Given the description of an element on the screen output the (x, y) to click on. 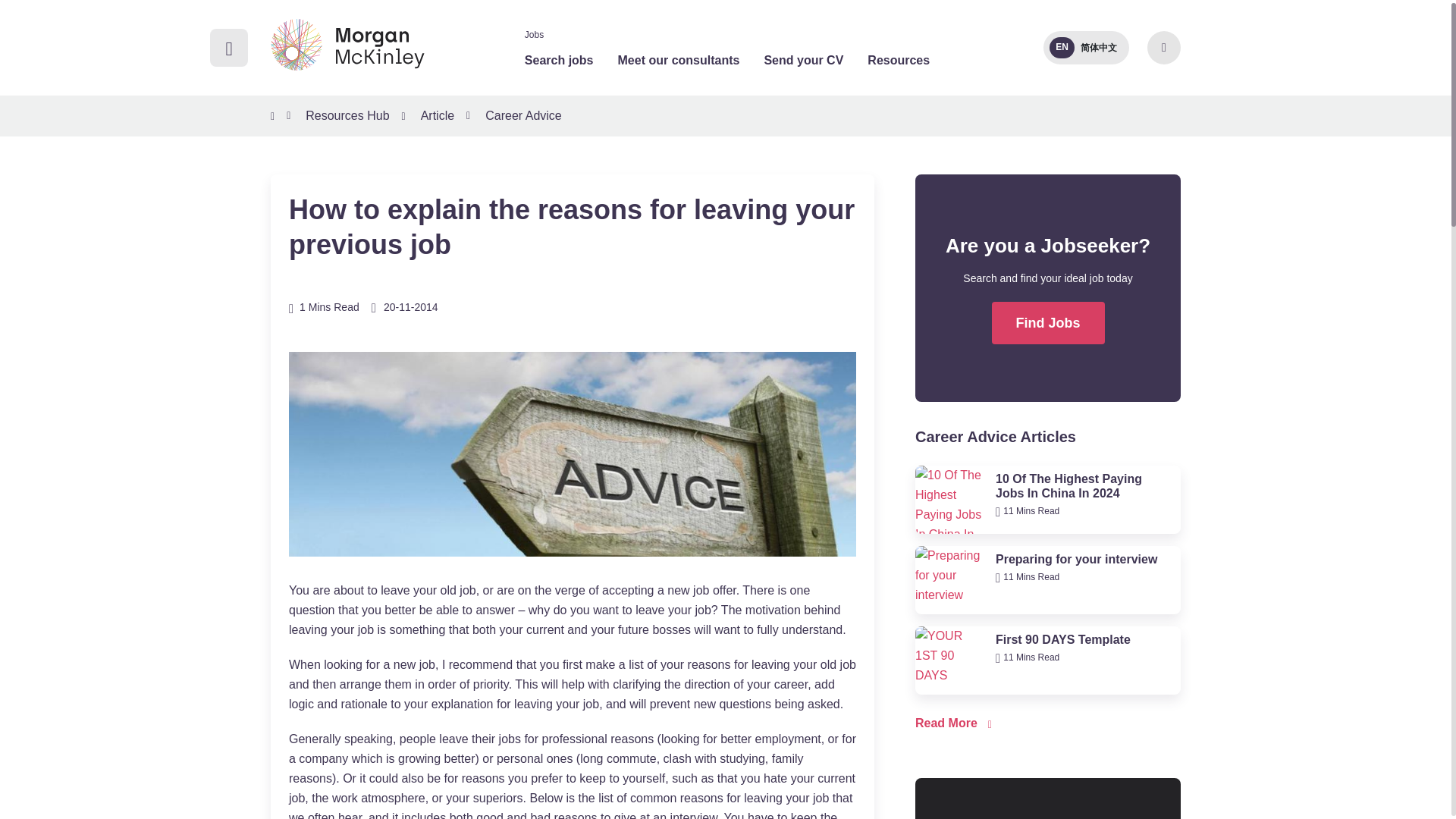
Resources (898, 60)
How to explain the reasons for leaving your previous job (572, 454)
Meet our consultants (678, 60)
Preparing for your interview (949, 580)
Send your CV (802, 60)
Search jobs (559, 60)
10 Of The Highest Paying Jobs In China In 2024 (949, 499)
YOUR 1ST 90 DAYS (949, 660)
